Given the description of an element on the screen output the (x, y) to click on. 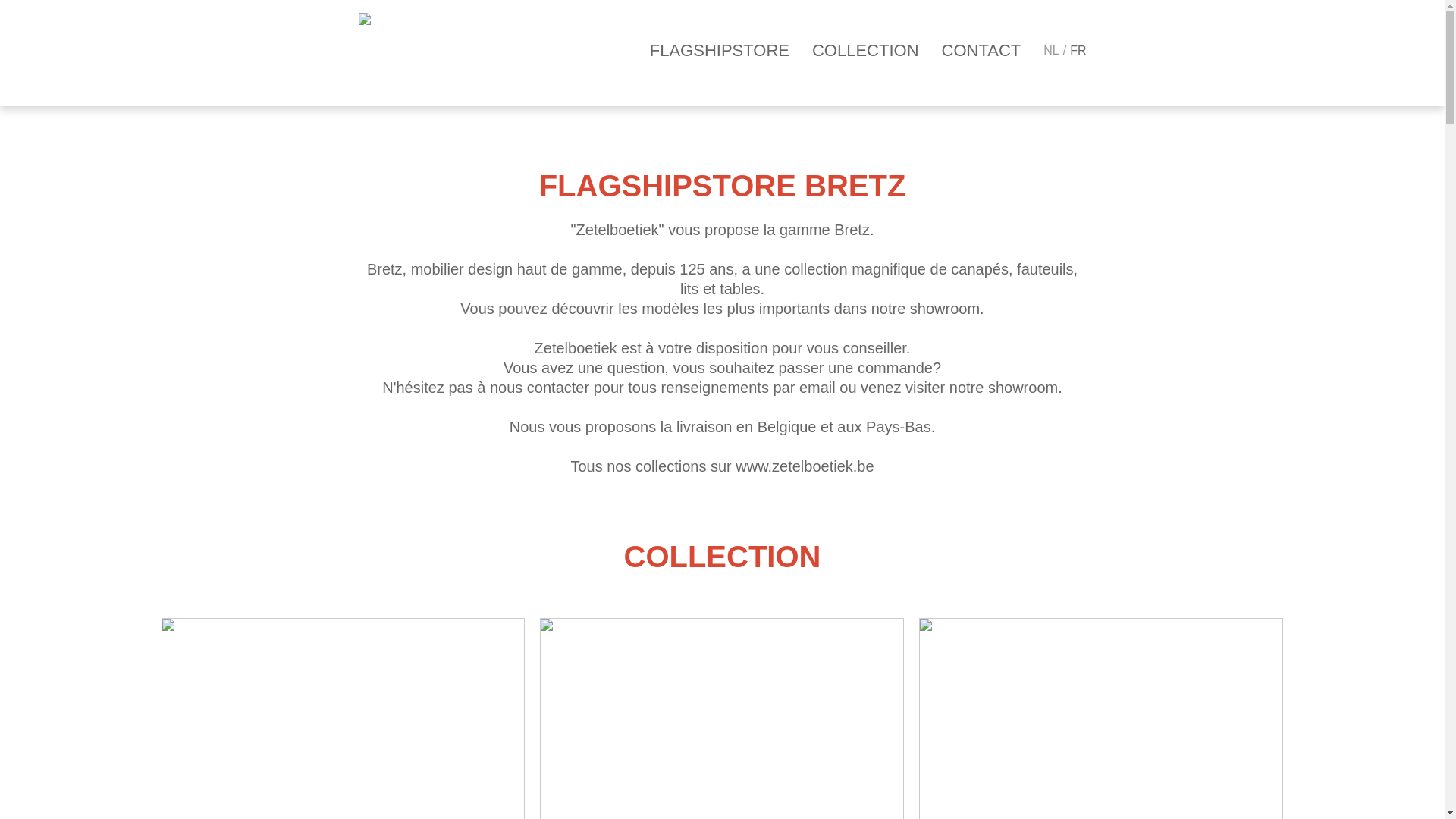
CONTACT Element type: text (981, 50)
FR Element type: text (1077, 50)
FLAGSHIPSTORE Element type: text (719, 50)
COLLECTION Element type: text (865, 50)
NL Element type: text (1050, 50)
